Given the description of an element on the screen output the (x, y) to click on. 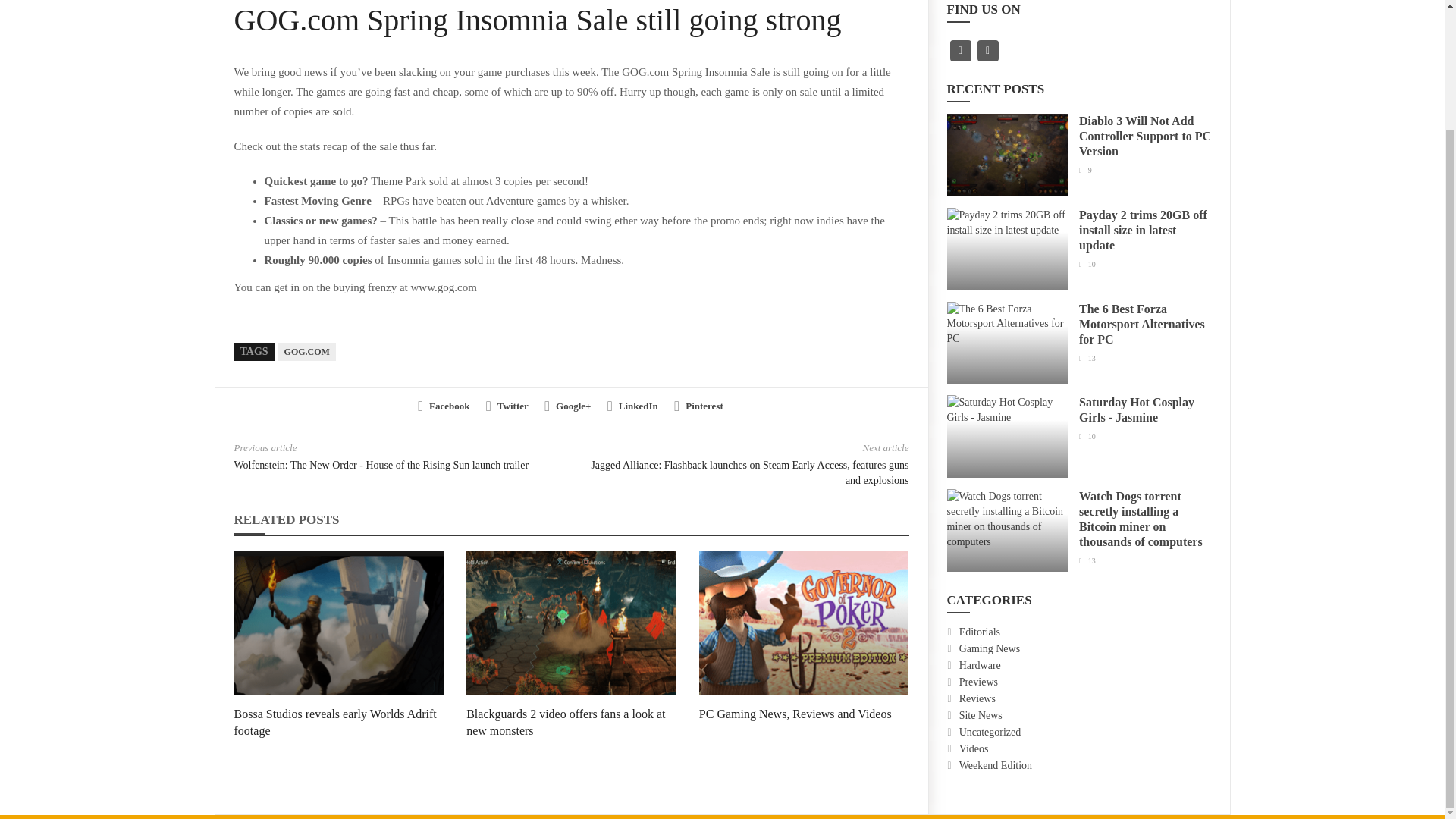
Facebook (442, 406)
Pinterest (698, 406)
PC Gaming News, Reviews and Videos (794, 713)
Bossa Studios reveals early Worlds Adrift footage (333, 722)
Twitter (507, 406)
LinkedIn (632, 406)
The 6 Best Forza Motorsport Alternatives for PC (1141, 323)
Payday 2 trims 20GB off install size in latest update (1142, 229)
Diablo 3 Will Not Add Controller Support to PC Version (1144, 136)
GOG.COM (307, 352)
Blackguards 2 video offers fans a look at new monsters (565, 722)
